Given the description of an element on the screen output the (x, y) to click on. 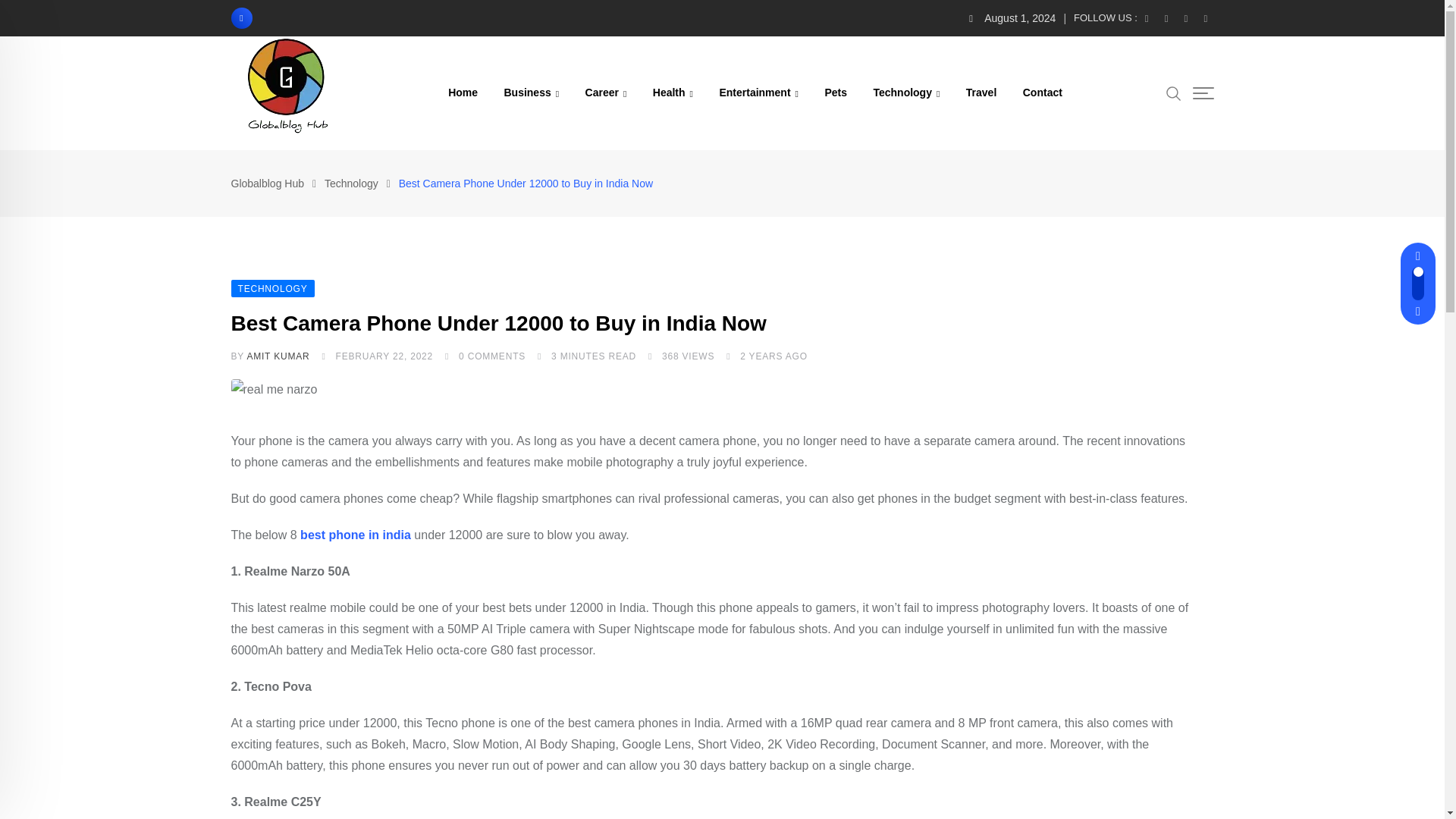
Go to the Technology Category archives. (351, 183)
Posts by Amit Kumar (277, 356)
Entertainment (758, 92)
Technology (905, 92)
Go to Globalblog Hub. (267, 183)
Search (1173, 92)
Business (531, 92)
